Given the description of an element on the screen output the (x, y) to click on. 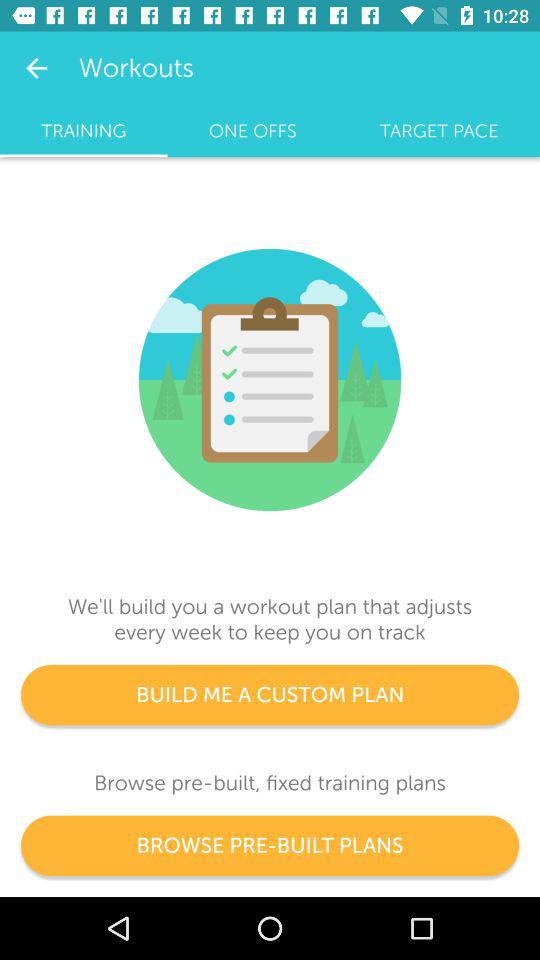
click item below workouts app (252, 131)
